Given the description of an element on the screen output the (x, y) to click on. 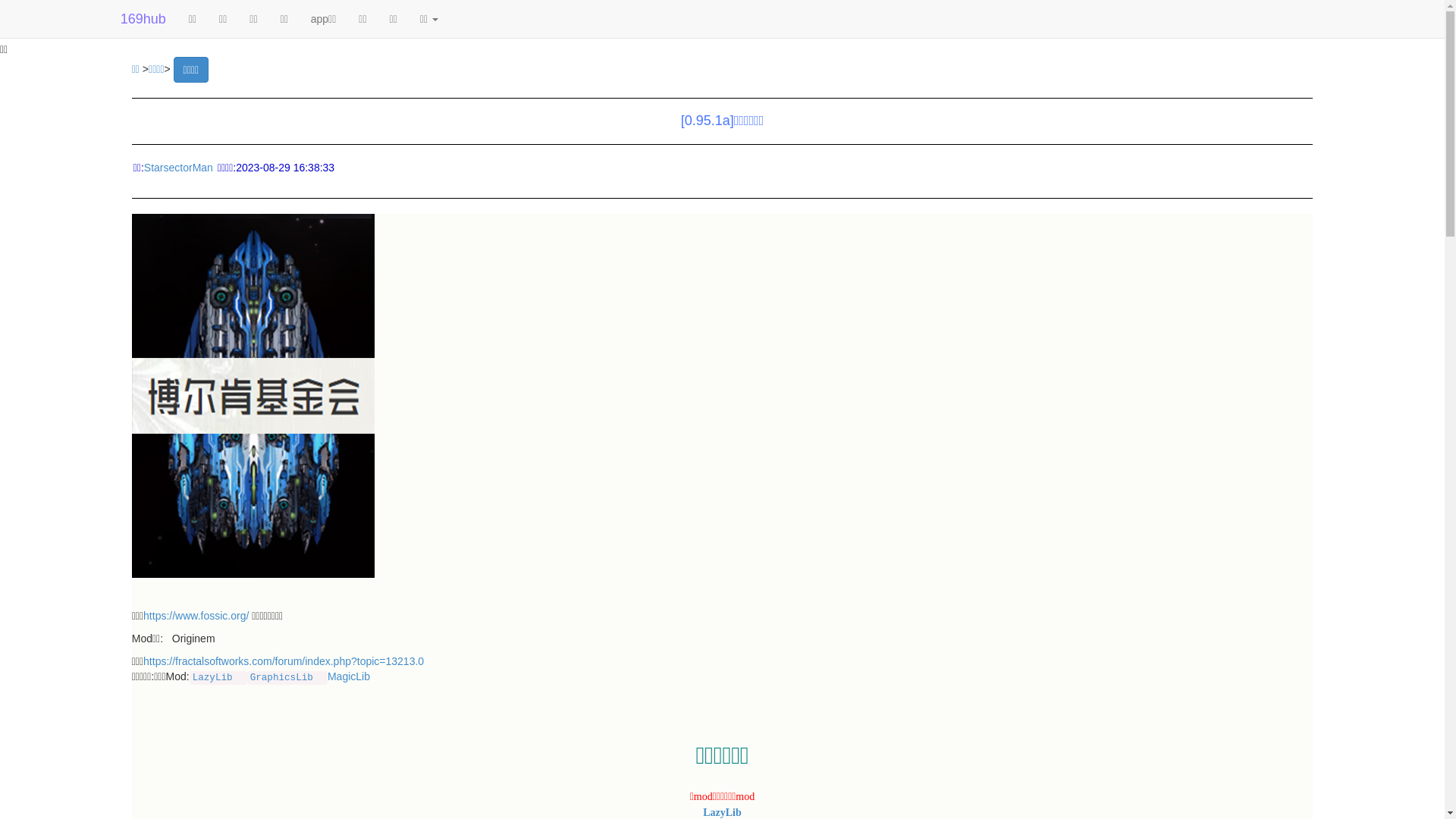
MagicLib Element type: text (348, 676)
https://fractalsoftworks.com/forum/index.php?topic=13213.0 Element type: text (283, 661)
GraphicsLib Element type: text (281, 677)
169hub Element type: text (143, 18)
https://www.fossic.org/ Element type: text (195, 615)
LazyLib Element type: text (212, 677)
LazyLib Element type: text (721, 812)
StarsectorMan Element type: text (178, 167)
